Given the description of an element on the screen output the (x, y) to click on. 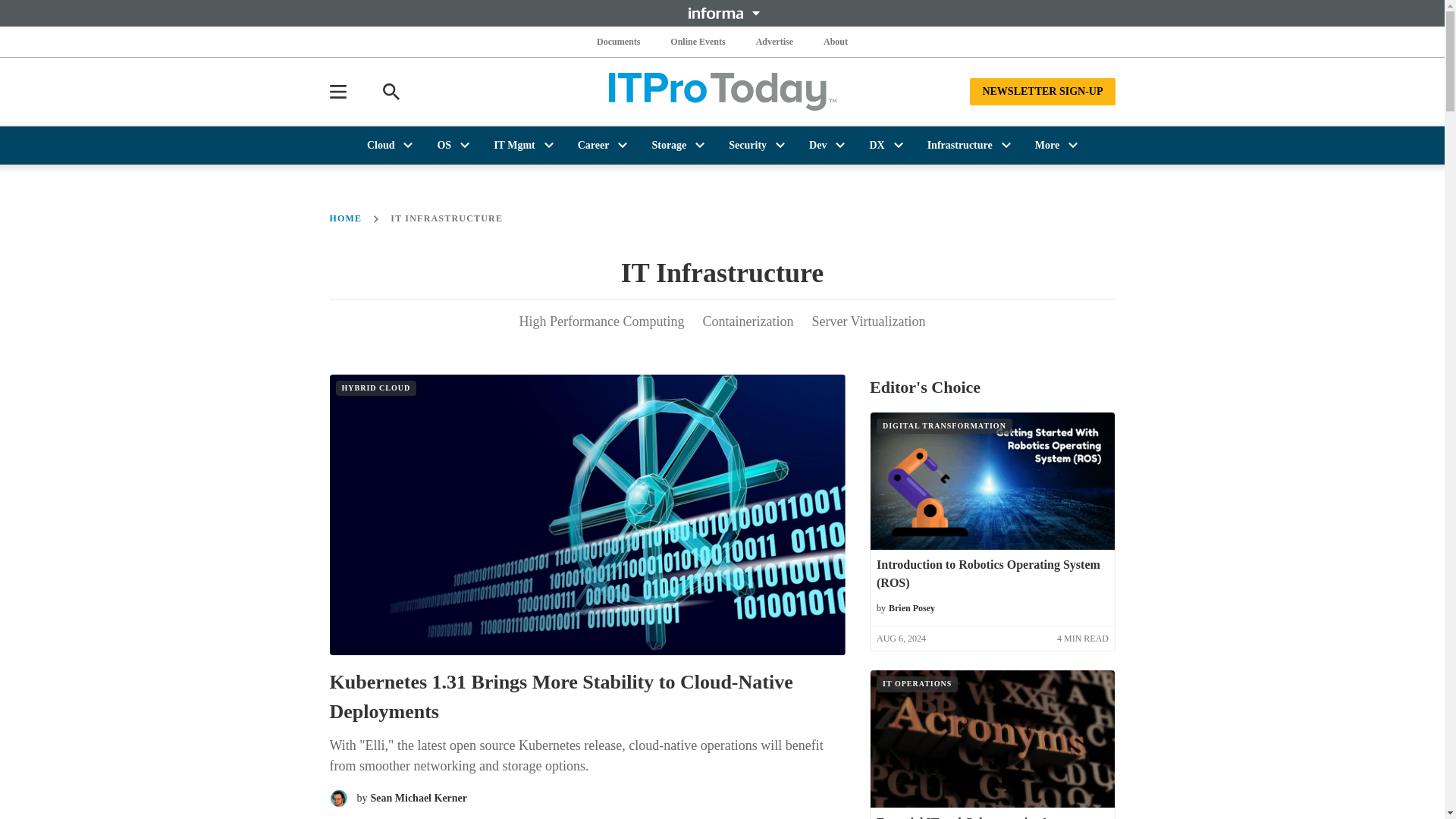
Advertise (774, 41)
NEWSLETTER SIGN-UP (1042, 90)
About (835, 41)
Documents (618, 41)
Online Events (697, 41)
ITPro Today Logo (721, 91)
